Given the description of an element on the screen output the (x, y) to click on. 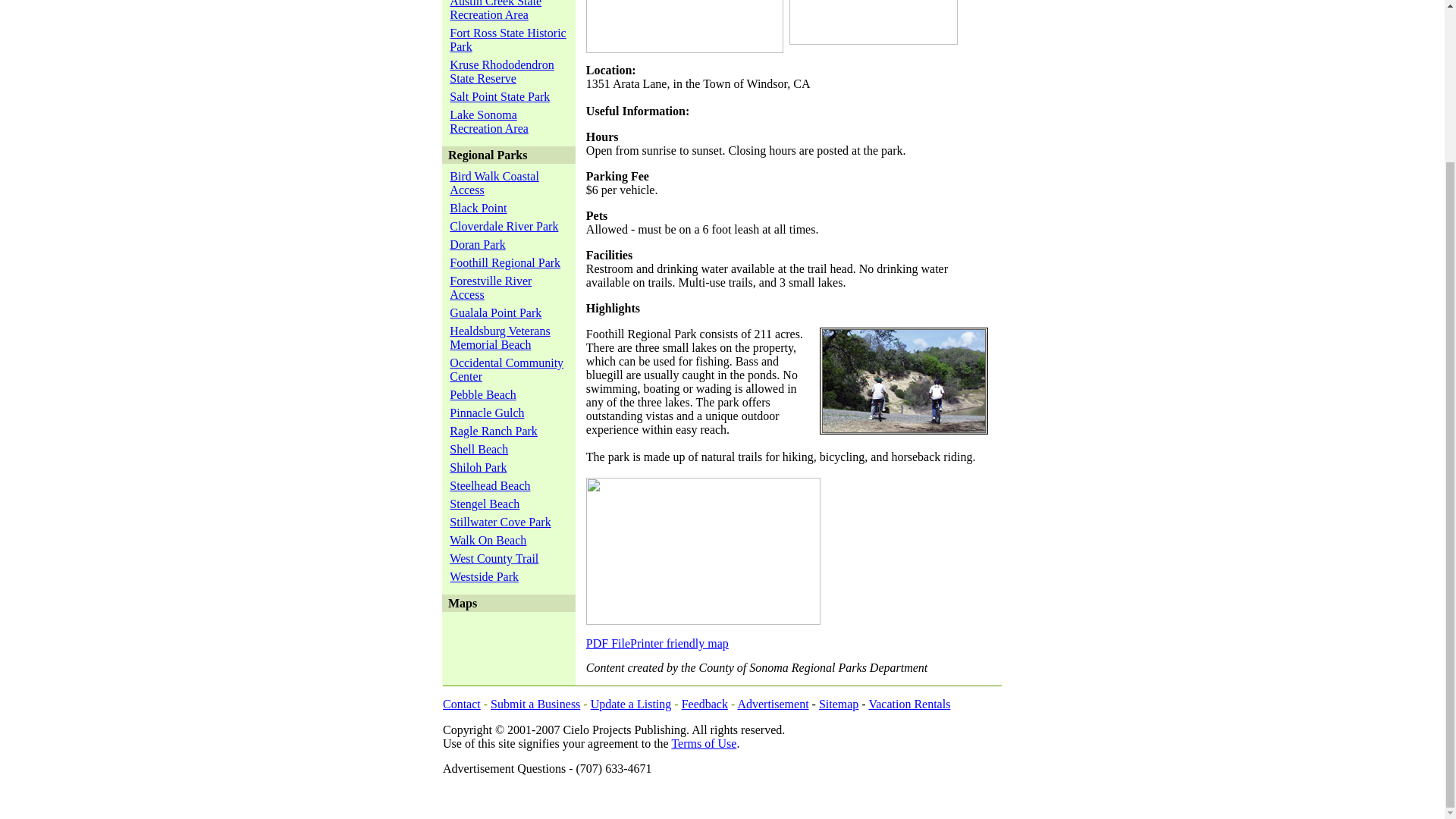
Walk On Beach (487, 540)
Pinnacle Gulch (486, 412)
Bird Walk Coastal Access (493, 182)
Gualala Point Park (499, 337)
Occidental Community Center (495, 312)
Stengel Beach (506, 369)
Shell Beach (484, 503)
Westside Park (478, 449)
Black Point (483, 576)
Austin Creek State Recreation Area (477, 207)
Lake Sonoma Recreation Area (495, 10)
Kruse Rhododendron State Reserve (488, 121)
Fort Ross State Historic Park (501, 71)
Steelhead Beach (507, 39)
